Given the description of an element on the screen output the (x, y) to click on. 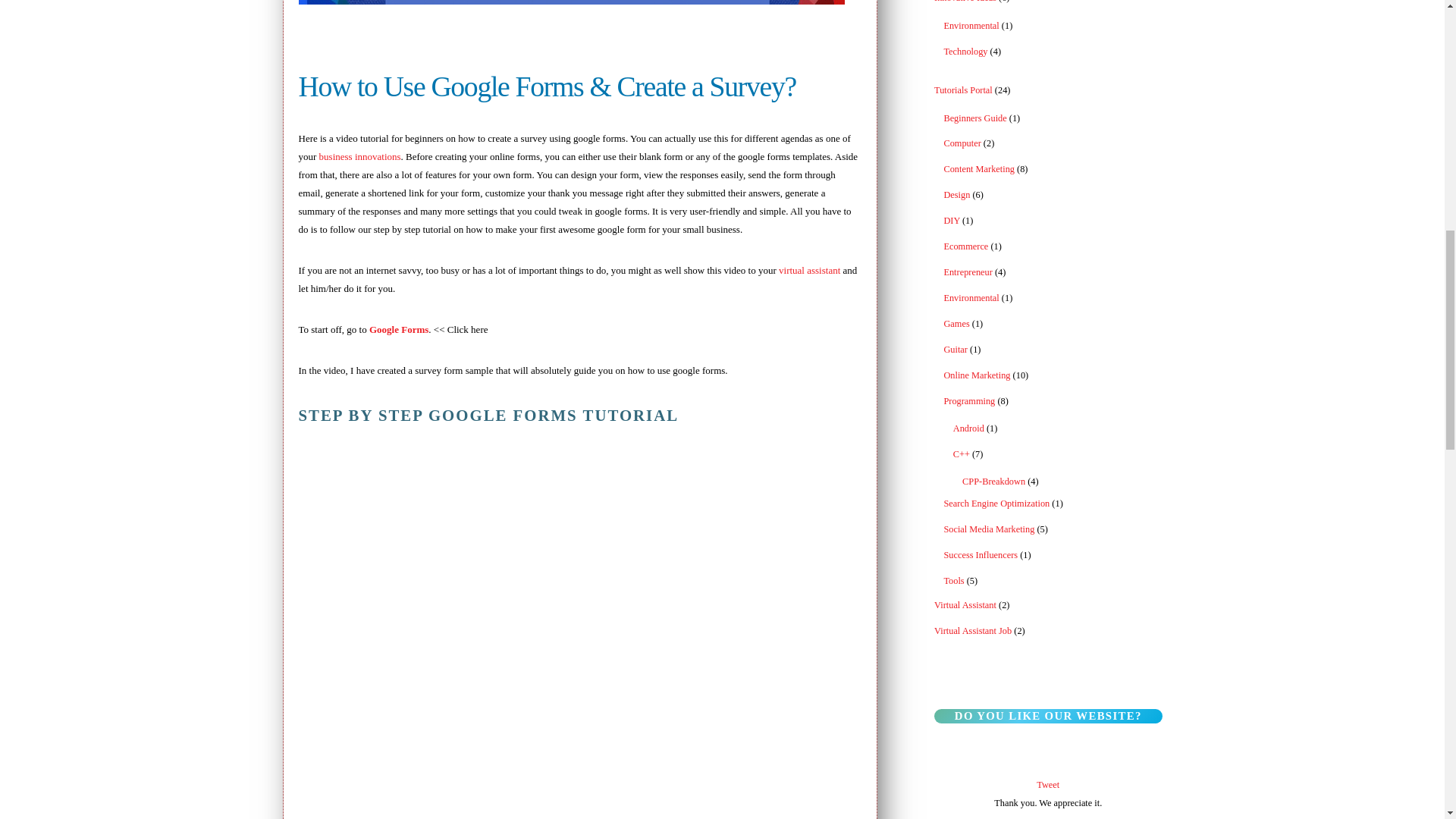
Google Forms (398, 328)
business innovations (359, 156)
virtual assistant (809, 270)
